Given the description of an element on the screen output the (x, y) to click on. 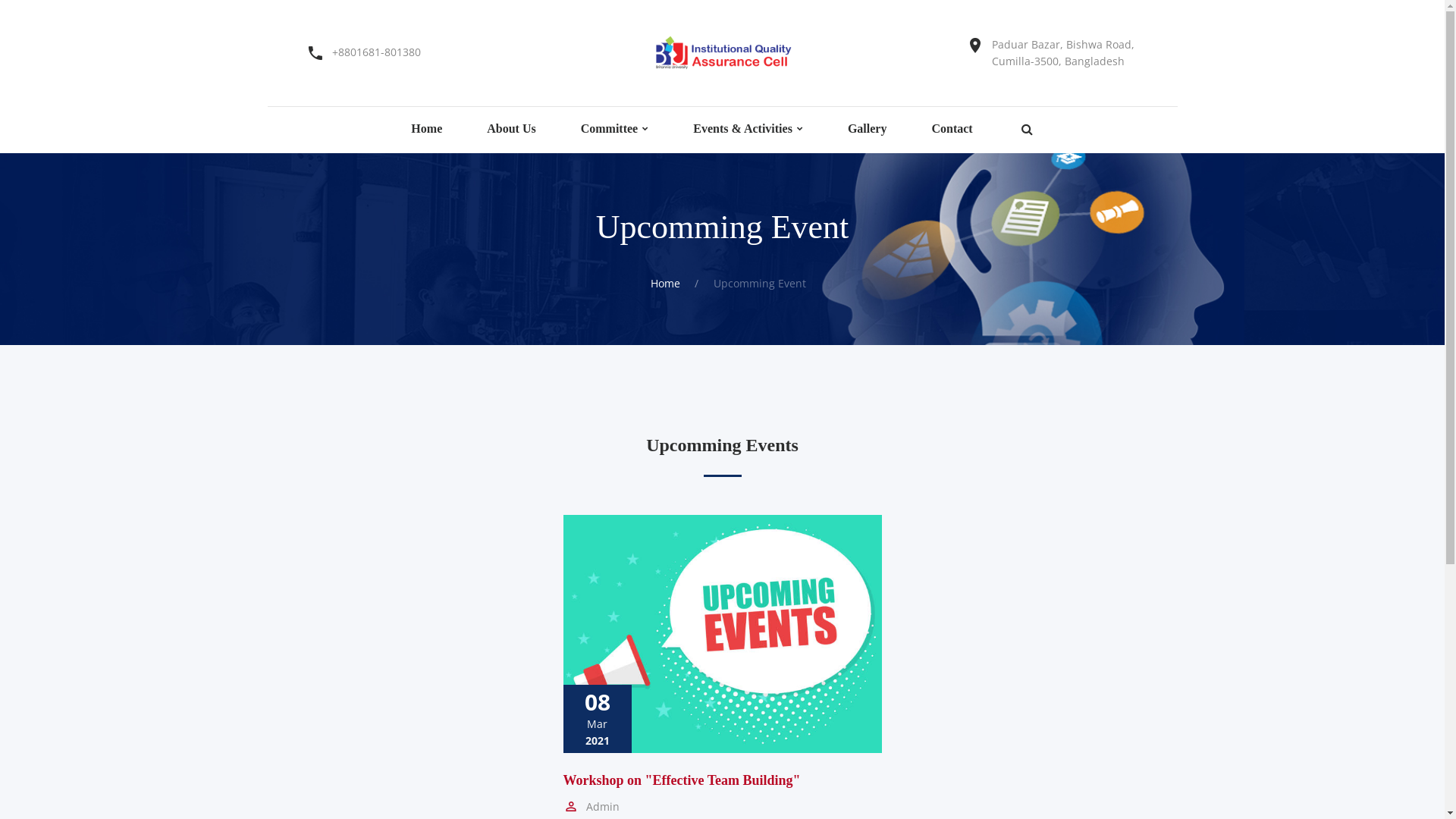
About Us Element type: text (510, 128)
Paduar Bazar, Bishwa Road, Cumilla-3500, Bangladesh Element type: text (1062, 52)
Gallery Element type: text (867, 128)
Home Element type: text (426, 128)
Contact Element type: text (951, 128)
Home Element type: text (665, 283)
Events & Activities Element type: text (742, 128)
Workshop on "Effective Team Building" Element type: text (681, 779)
Admin Element type: text (590, 805)
+8801681-801380 Element type: text (376, 51)
Committee Element type: text (609, 128)
